Given the description of an element on the screen output the (x, y) to click on. 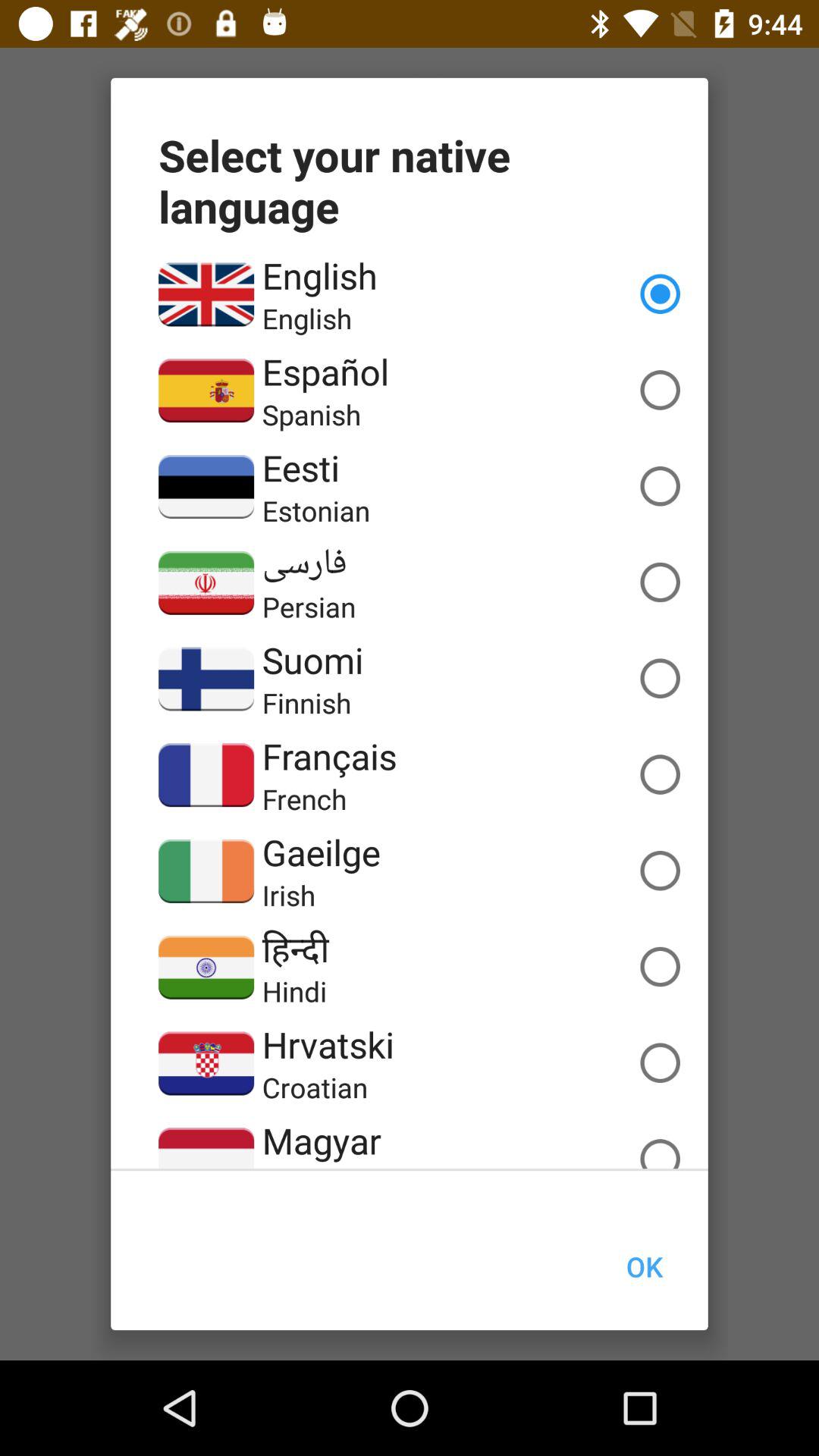
turn off icon below gaeilge item (288, 894)
